Given the description of an element on the screen output the (x, y) to click on. 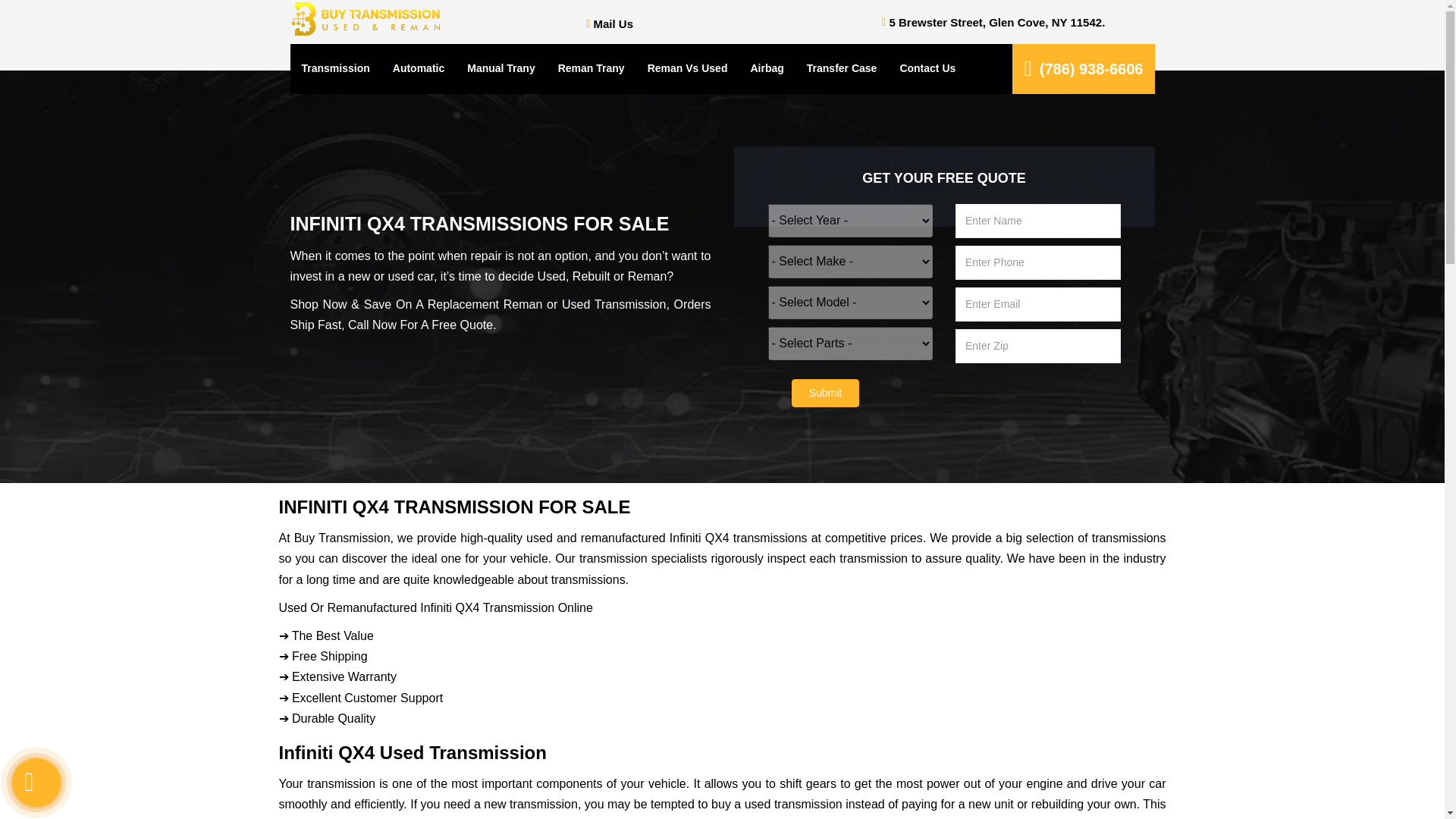
Transmission (334, 69)
Transfer Case (841, 69)
Buy Transmission (365, 20)
Manual Trany (500, 69)
Mail Us (612, 23)
Airbag (766, 69)
Automatic (418, 69)
Reman Trany (591, 69)
Contact Us (927, 69)
Submit (826, 393)
